Given the description of an element on the screen output the (x, y) to click on. 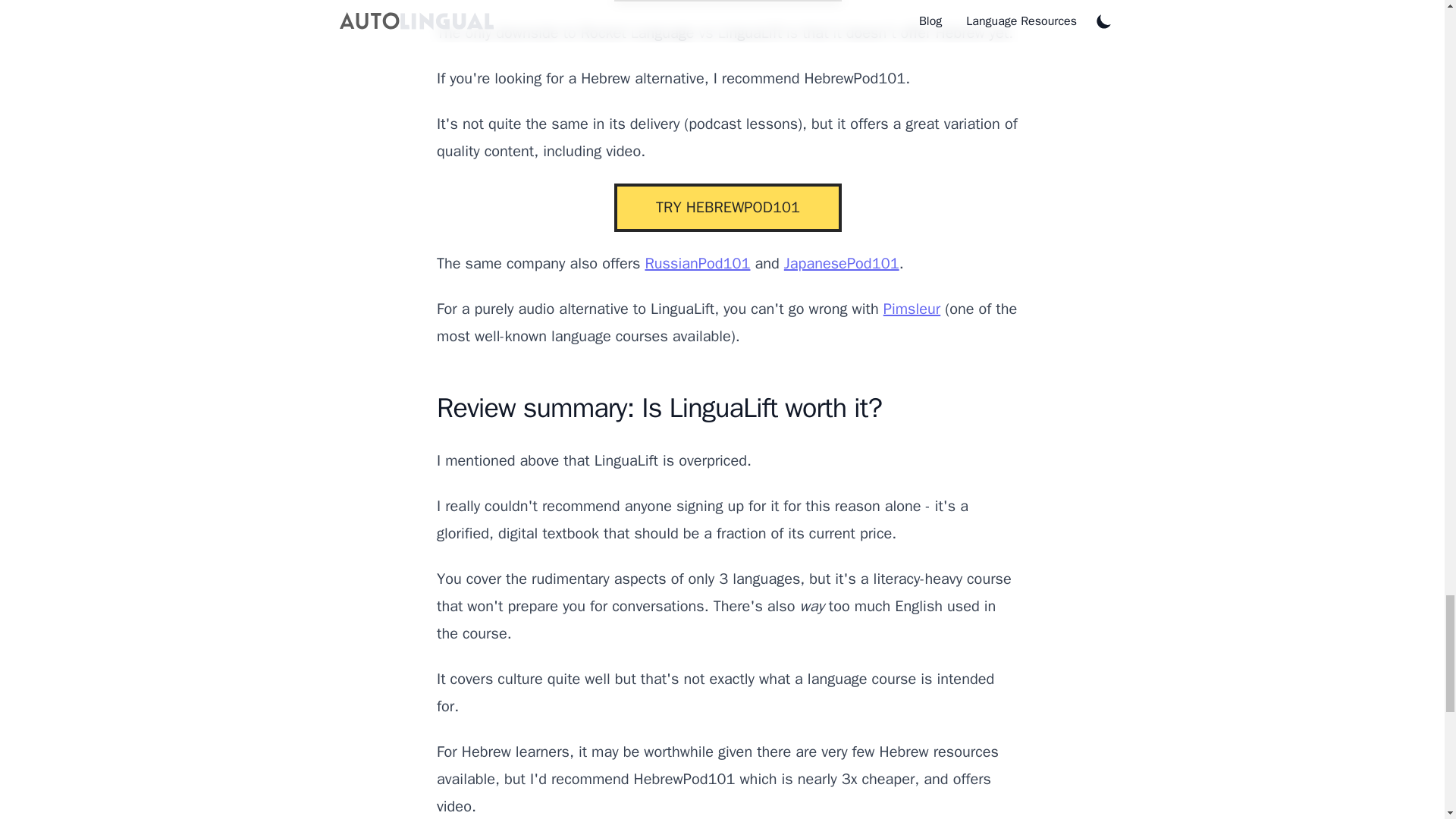
TRY HEBREWPOD101 (727, 207)
RussianPod101 (697, 262)
Pimsleur (911, 308)
JapanesePod101 (841, 262)
